Given the description of an element on the screen output the (x, y) to click on. 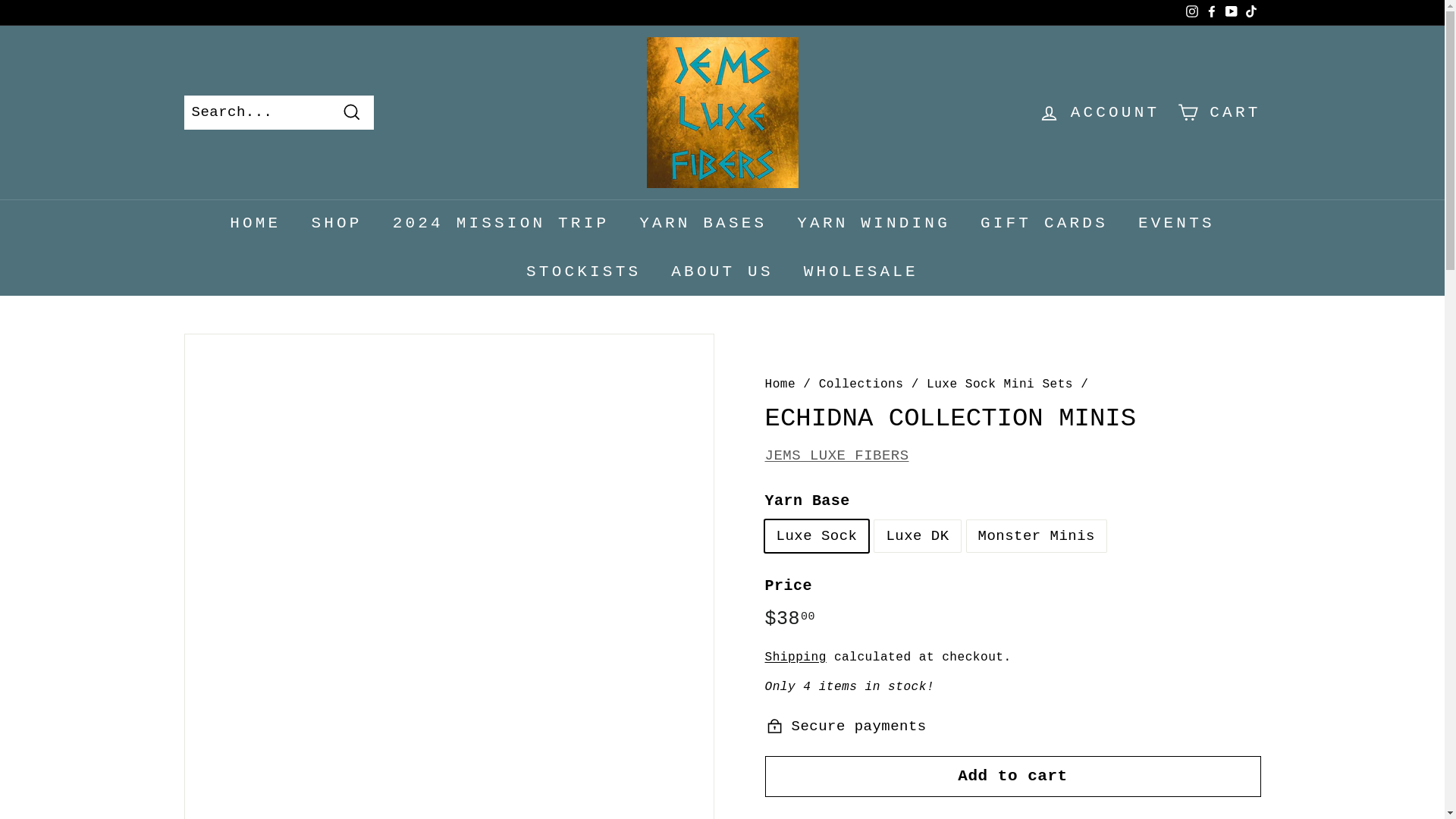
JEMS LUXE FIBERS (836, 455)
Back to the frontpage (779, 384)
STOCKISTS (583, 272)
ACCOUNT (1099, 112)
EVENTS (1176, 223)
HOME (254, 223)
2024 MISSION TRIP (500, 223)
GIFT CARDS (1043, 223)
YARN BASES (702, 223)
SHOP (336, 223)
YARN WINDING (873, 223)
